Given the description of an element on the screen output the (x, y) to click on. 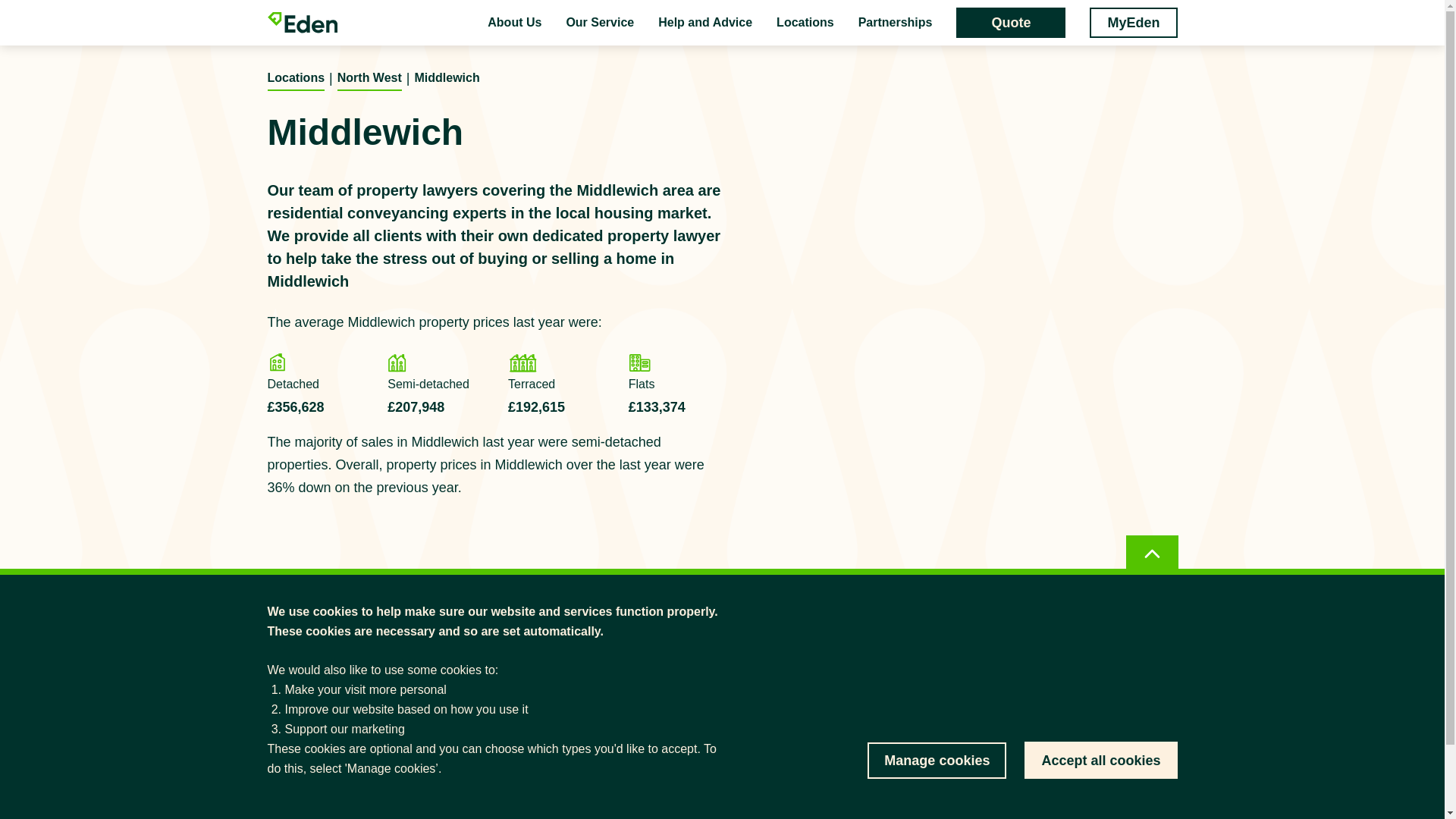
Partnerships (896, 22)
Return to home (304, 668)
0300 180 0345 (838, 734)
Locations (295, 77)
Locations (805, 22)
Help and Advice (705, 22)
Return to the top of the current page (1151, 553)
About Us (514, 22)
Unit 7.19, Paintworks, Bath Road, Bristol, BS4 3EA (838, 770)
Manage cookies (936, 760)
Our Service (599, 22)
Return to the top of the current page (1151, 553)
North West (369, 77)
Quote (1010, 22)
MyEden (1132, 22)
